Given the description of an element on the screen output the (x, y) to click on. 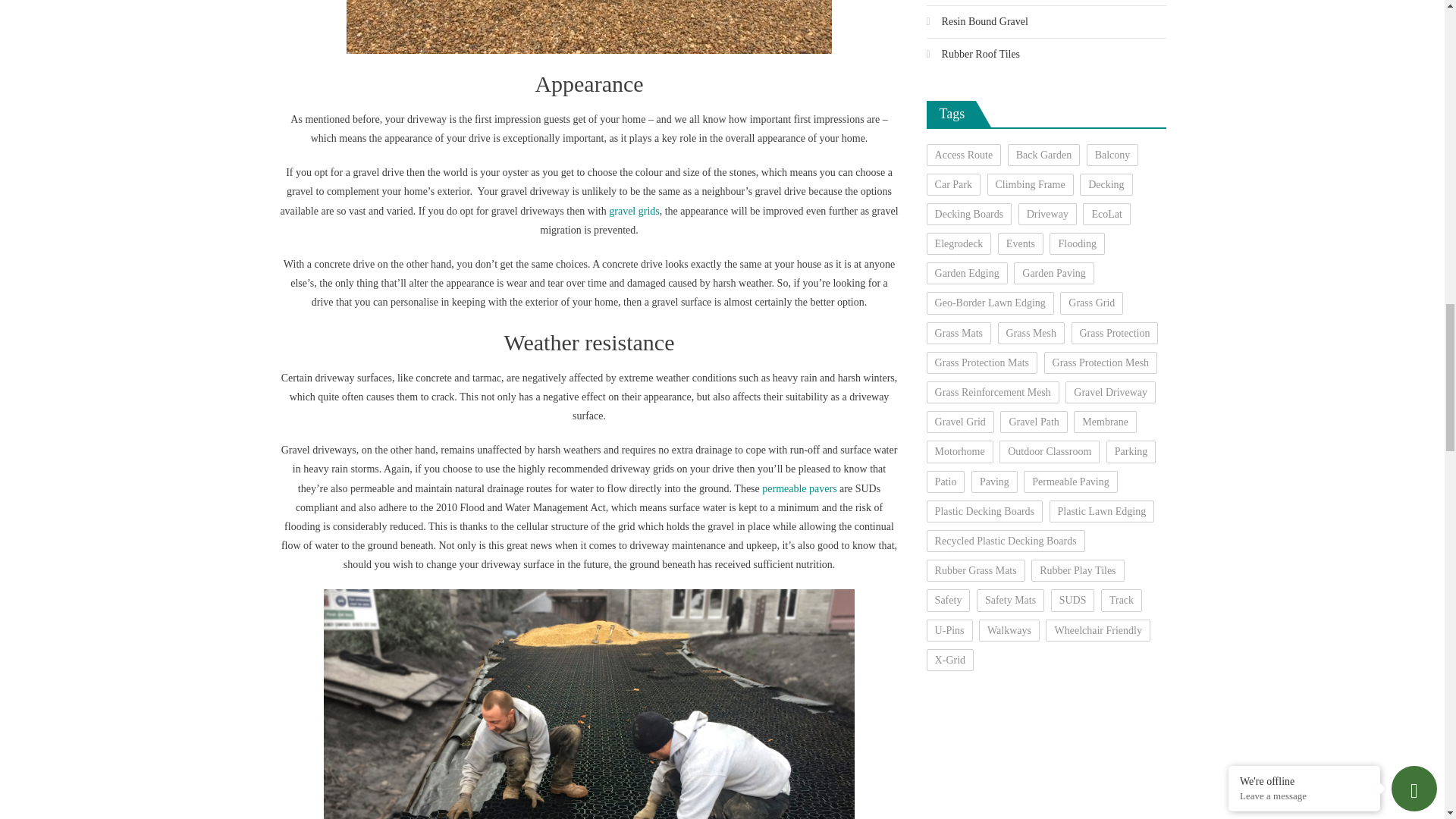
gravel grids (633, 211)
permeable pavers (798, 488)
